Given the description of an element on the screen output the (x, y) to click on. 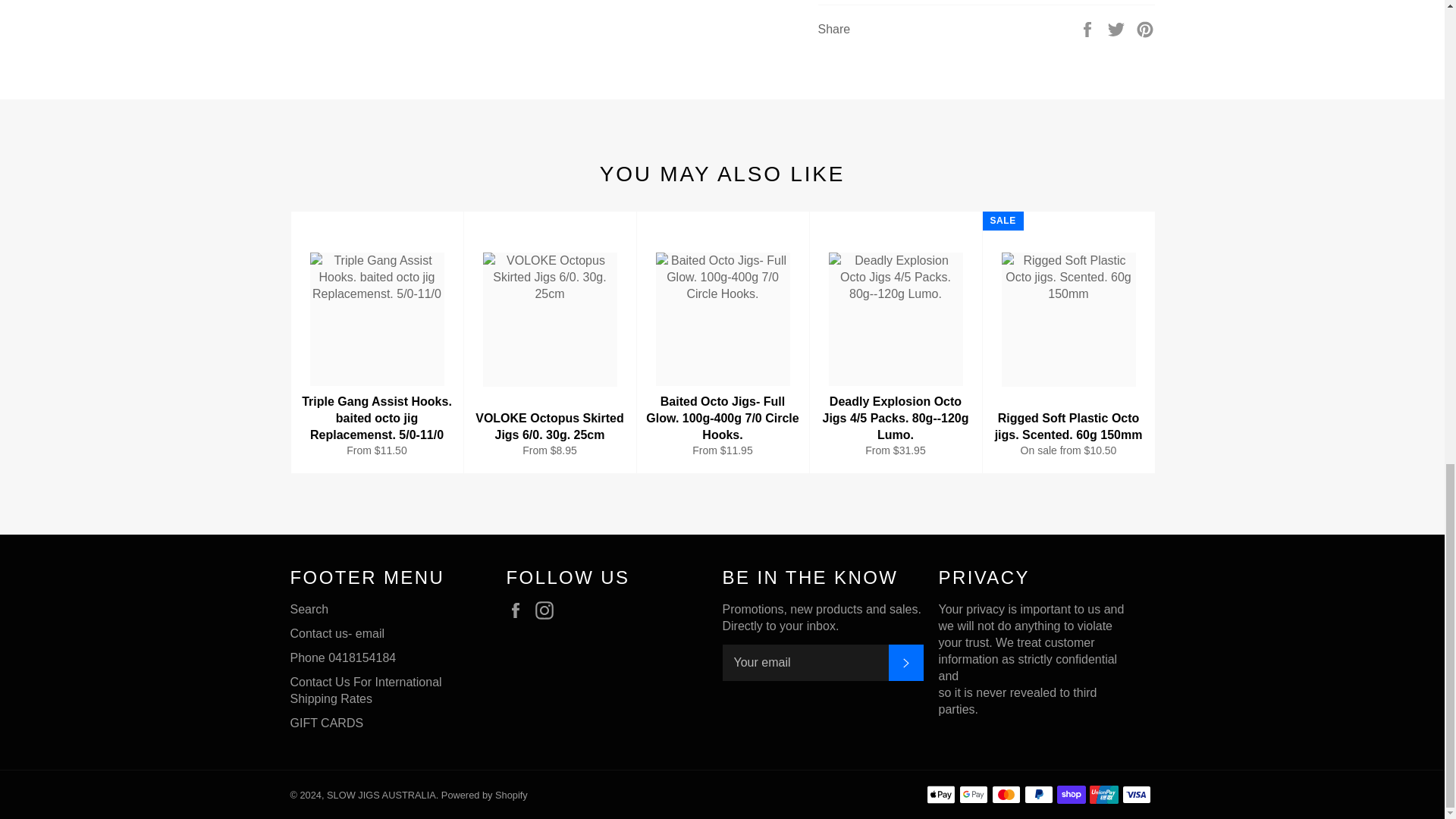
SLOW JIGS AUSTRALIA on Facebook (519, 610)
Tweet on Twitter (1117, 28)
Pin on Pinterest (1144, 28)
SLOW JIGS AUSTRALIA on Instagram (547, 610)
Share on Facebook (1088, 28)
